Given the description of an element on the screen output the (x, y) to click on. 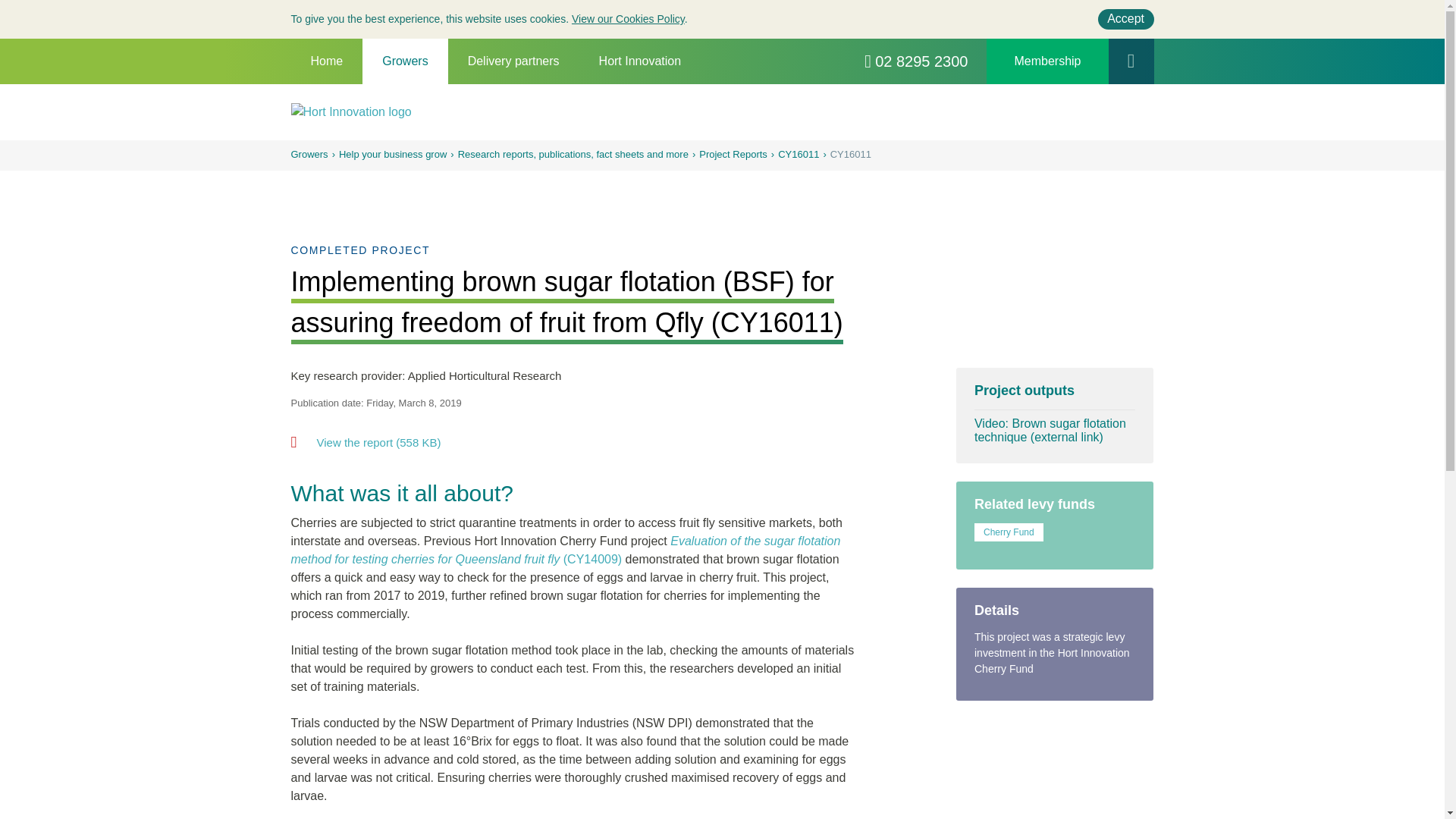
02 8295 2300 (916, 60)
Home (326, 61)
Accept (1125, 19)
Delivery partners (513, 61)
Growers (404, 61)
View our Cookies Policy (628, 19)
